Given the description of an element on the screen output the (x, y) to click on. 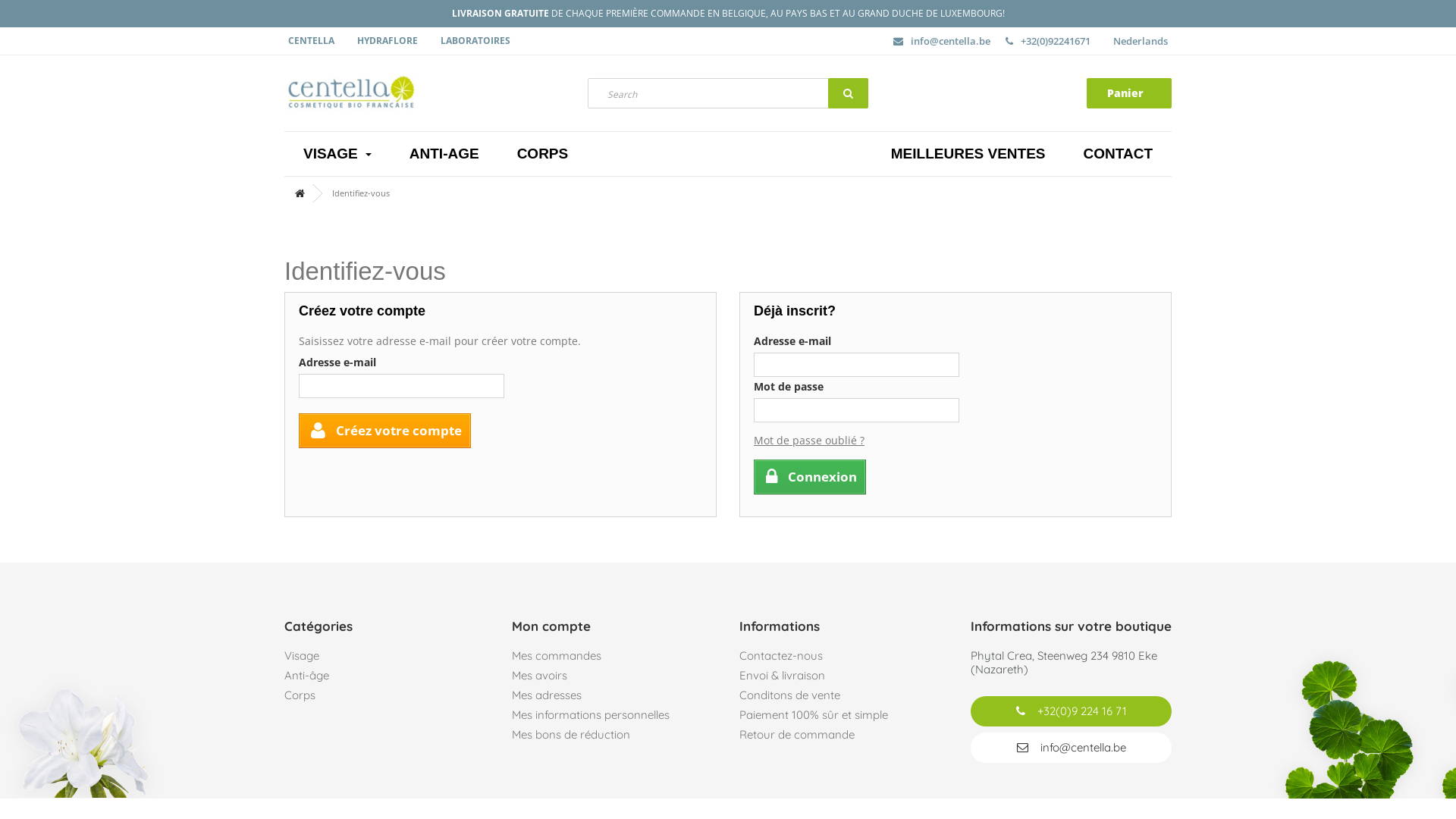
+32(0)9 224 16 71 Element type: text (1070, 711)
info@centella.be Element type: text (945, 40)
HYDRAFLORE Element type: text (387, 40)
LABORATOIRES Element type: text (475, 40)
Envoi & livraison Element type: text (782, 675)
Corps Element type: text (299, 694)
info@centella.be Element type: text (1070, 747)
CENTELLA Element type: text (315, 40)
Visage Element type: text (301, 655)
ANTI-AGE Element type: text (444, 153)
Conditons de vente Element type: text (789, 694)
Connexion Element type: text (809, 476)
Mes informations personnelles Element type: text (590, 714)
Mes avoirs Element type: text (539, 675)
CONTACT Element type: text (1117, 153)
Mes commandes Element type: text (556, 655)
Mes adresses Element type: text (546, 694)
Nederlands Element type: text (1140, 40)
+32(0)92241671 Element type: text (1051, 40)
VISAGE Element type: text (337, 153)
Retour de commande Element type: text (796, 734)
MEILLEURES VENTES Element type: text (968, 153)
Panier Element type: text (1128, 93)
CORPS Element type: text (542, 153)
Centella Element type: hover (424, 92)
Contactez-nous Element type: text (780, 655)
